Given the description of an element on the screen output the (x, y) to click on. 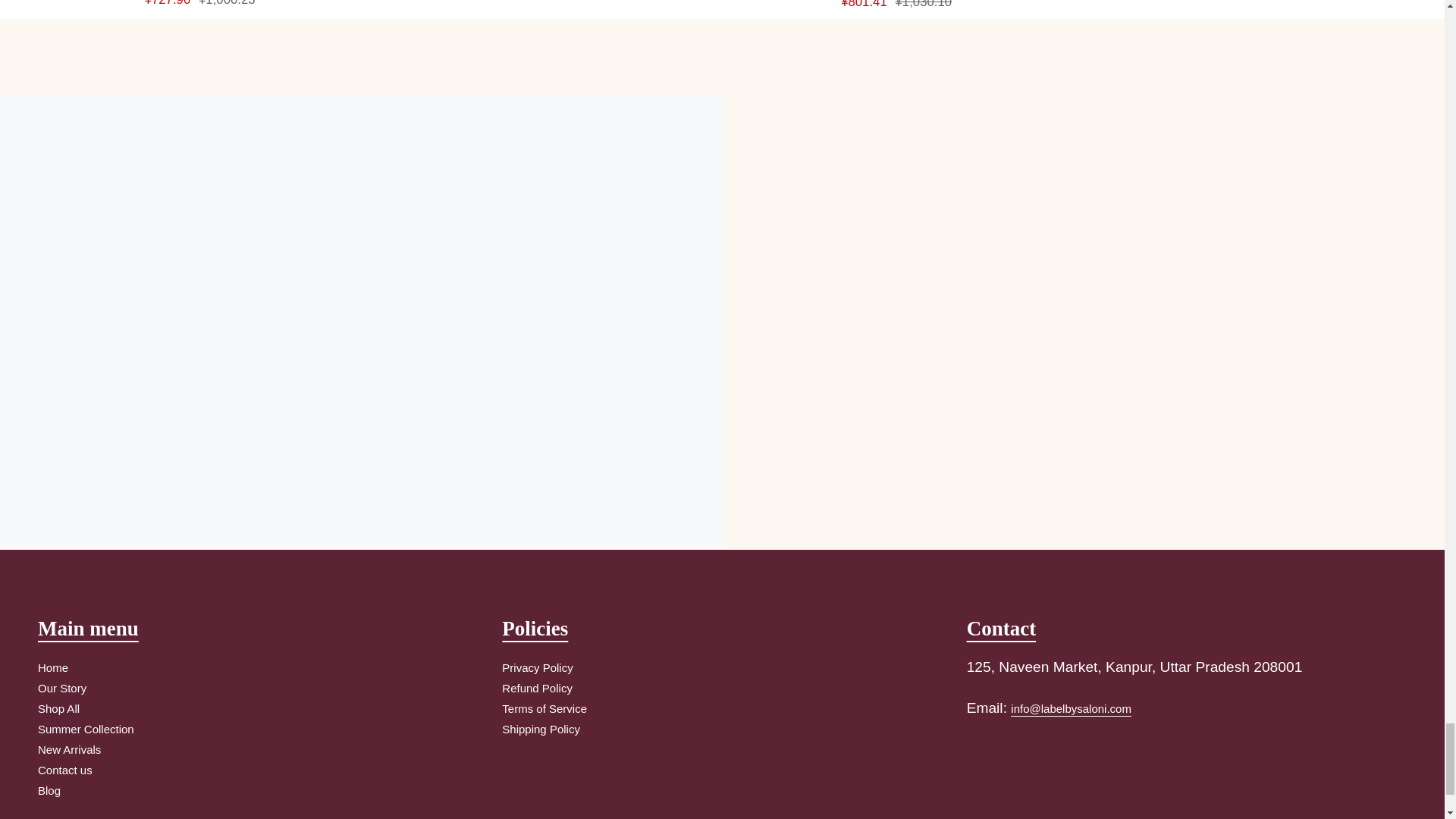
Email ID for Label by Saloni (1070, 710)
